Given the description of an element on the screen output the (x, y) to click on. 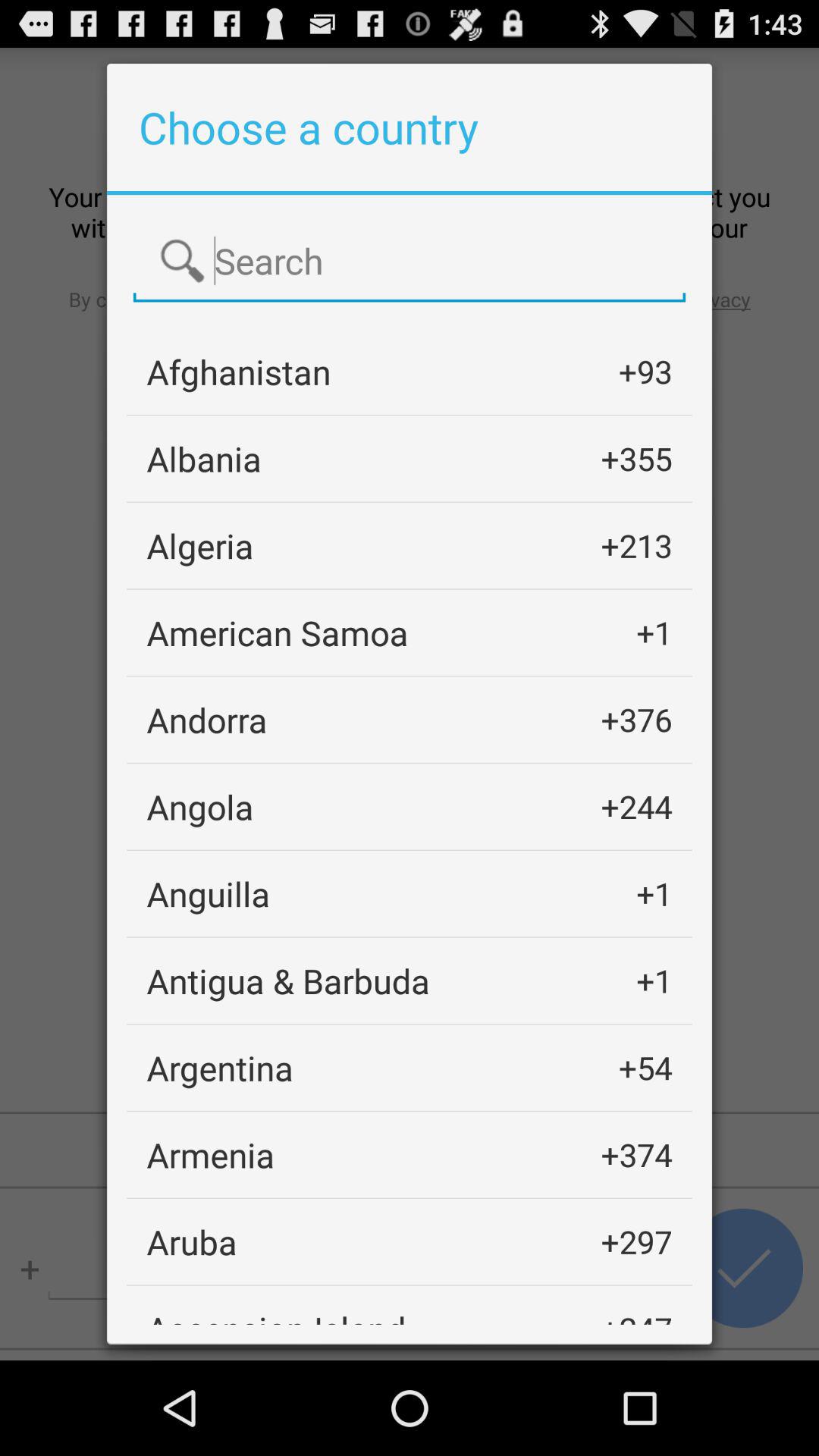
swipe until the +247 (636, 1314)
